Given the description of an element on the screen output the (x, y) to click on. 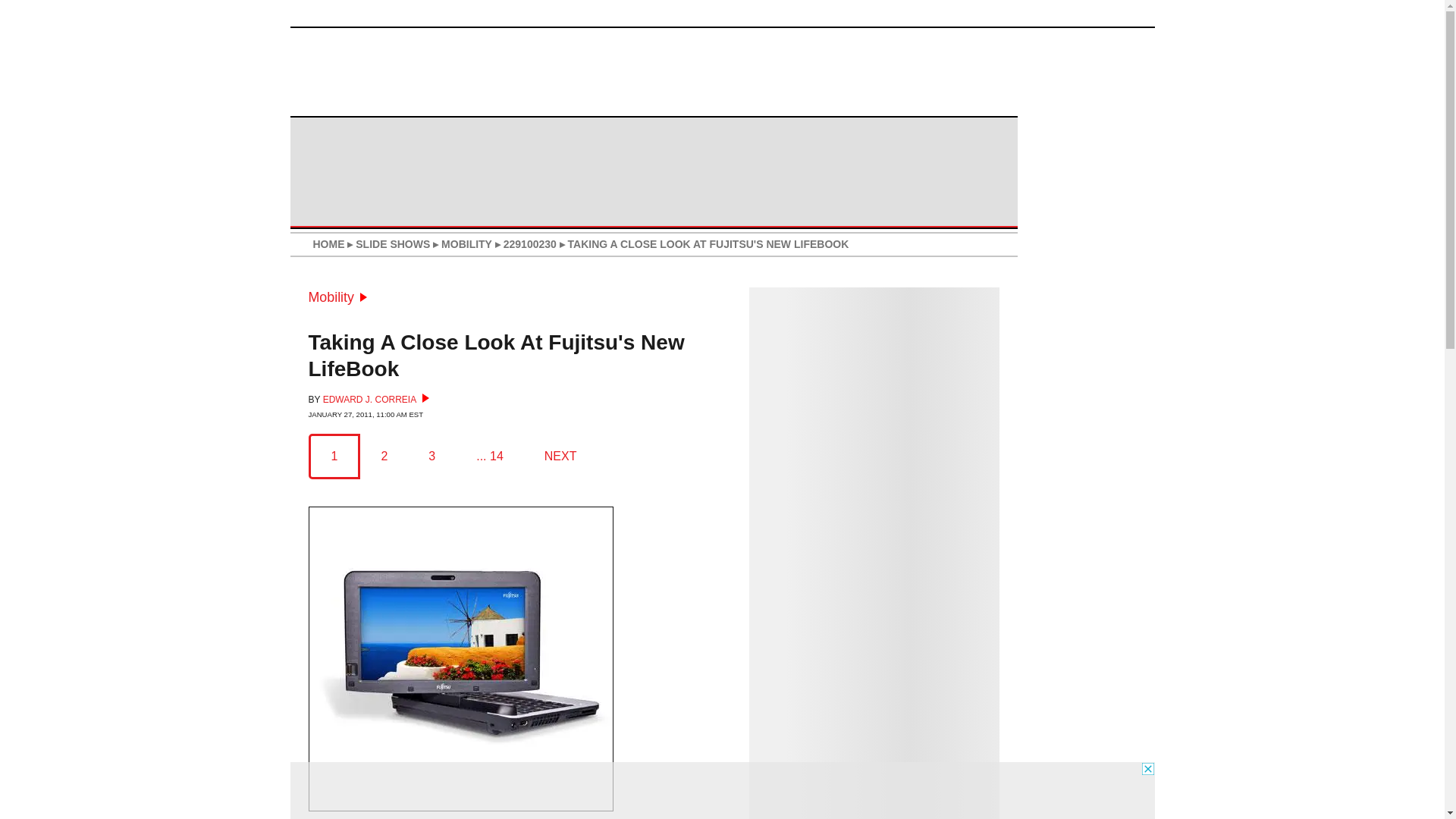
NEXT (560, 455)
... 14 (489, 455)
Mobility (336, 296)
Mobility (336, 296)
1 (334, 455)
HOME (328, 244)
EDWARD J. CORREIA (376, 398)
3 (431, 455)
2 (383, 455)
